Given the description of an element on the screen output the (x, y) to click on. 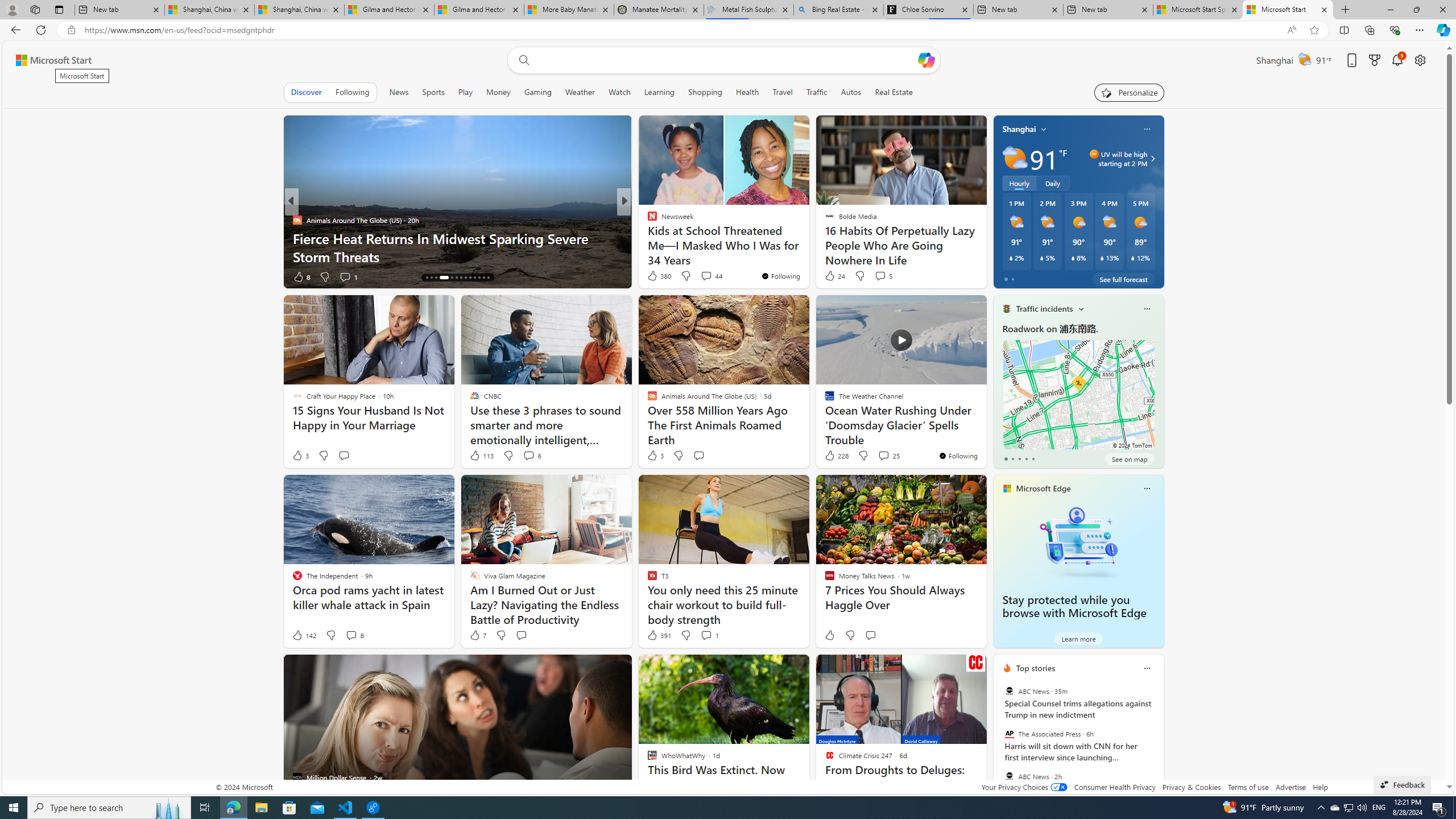
Traffic Title Traffic Light (1005, 308)
View comments 6 Comment (532, 455)
tab-2 (1019, 458)
Hide this story (952, 668)
View comments 5 Comment (879, 275)
See on map (1128, 459)
Personalize your feed" (1129, 92)
View comments 16 Comment (704, 276)
